Given the description of an element on the screen output the (x, y) to click on. 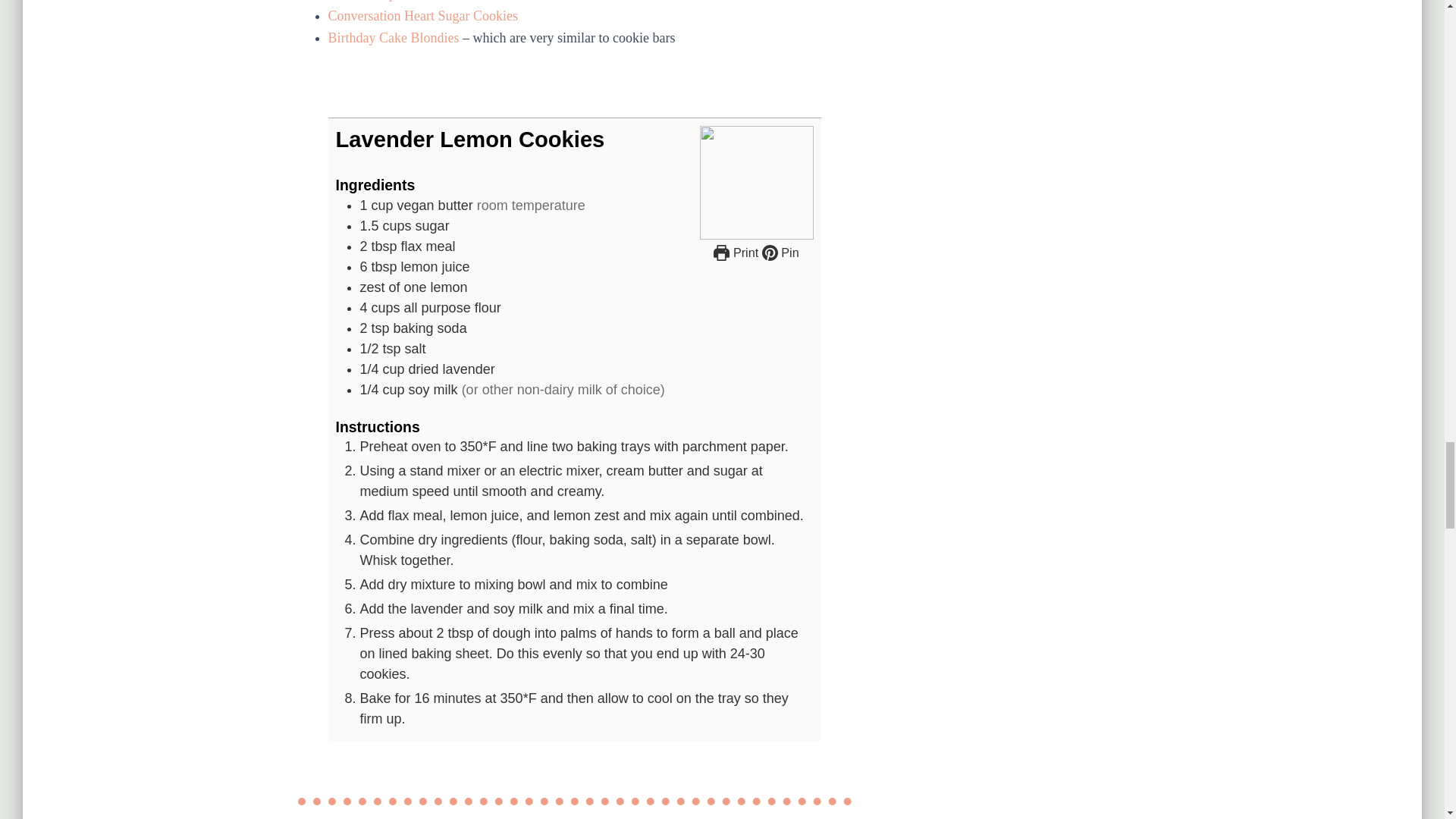
Pin (780, 252)
Mocha Chip Cookie Bars (396, 0)
Conversation Heart Sugar Cookies (421, 15)
Print (735, 252)
Birthday Cake Blondies (392, 37)
